Given the description of an element on the screen output the (x, y) to click on. 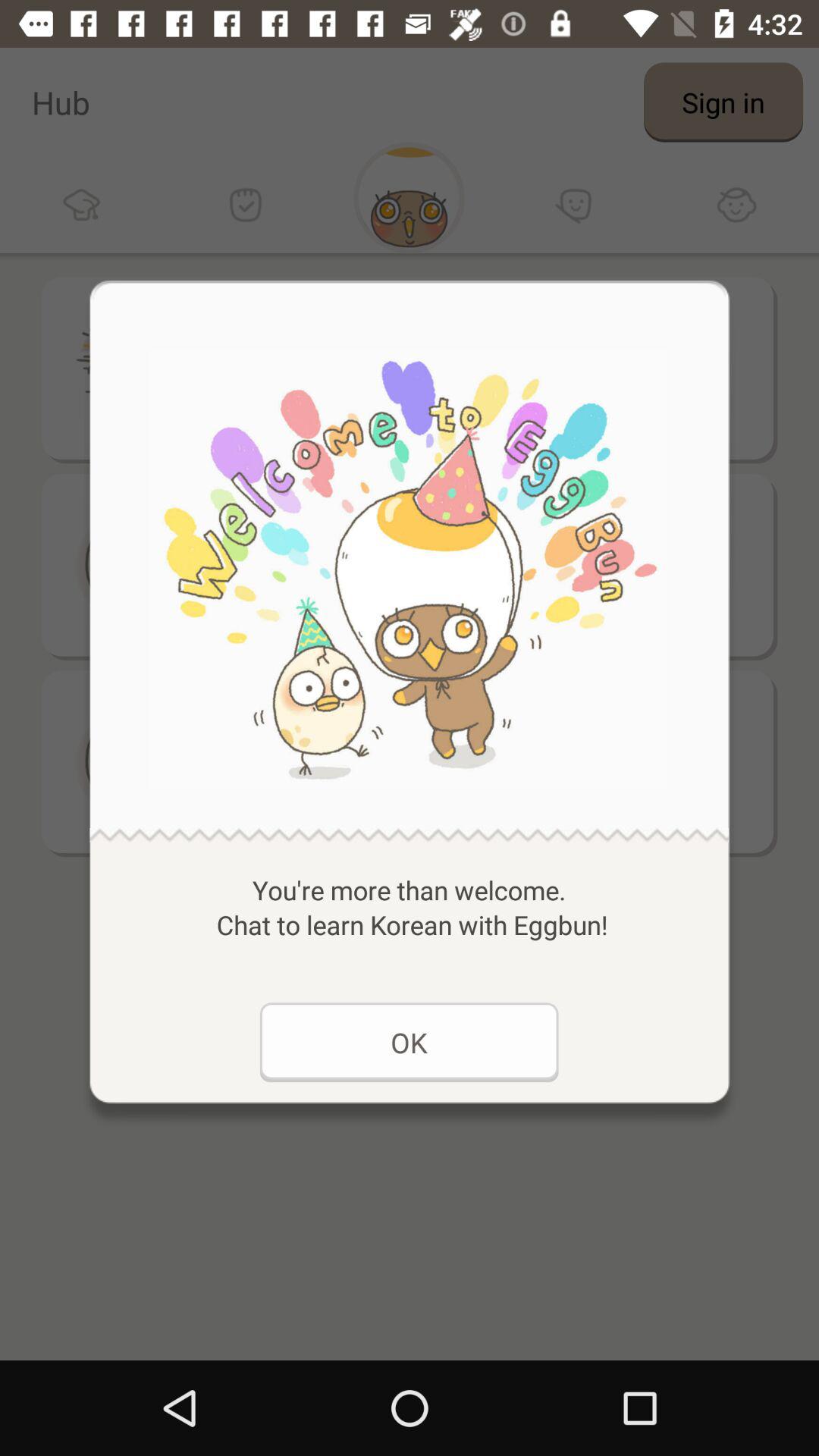
open the ok (408, 1042)
